Given the description of an element on the screen output the (x, y) to click on. 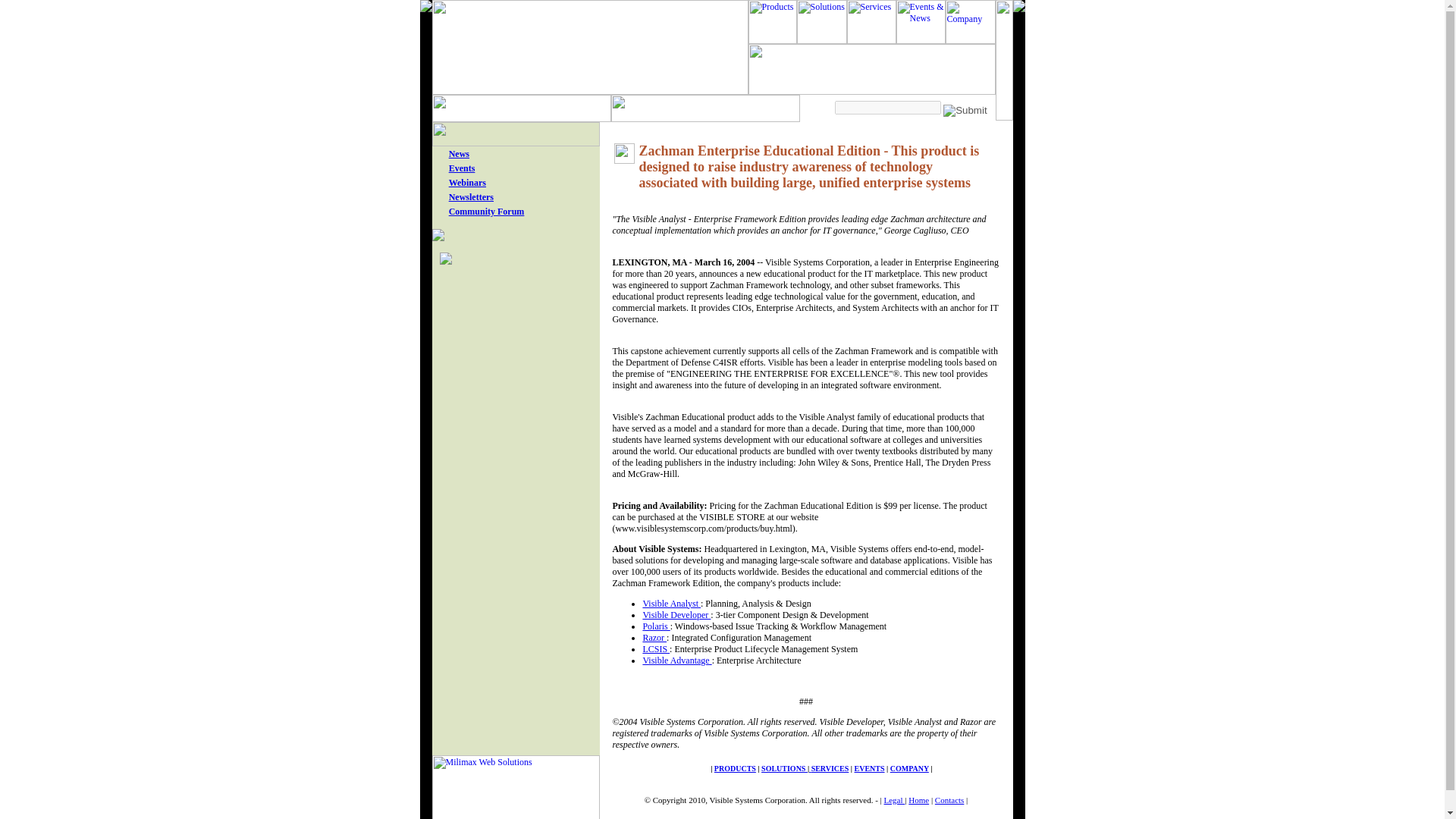
Webinars (467, 182)
Community Forum (486, 211)
Visible Advantage (676, 660)
Legal (894, 799)
COMPANY (908, 768)
LCSIS (655, 648)
News (458, 153)
Visible Developer (676, 614)
Submit (965, 110)
SERVICES (829, 768)
Razor (654, 637)
PRODUCTS (734, 768)
Polaris (655, 625)
Events (462, 167)
SOLUTIONS (784, 768)
